Given the description of an element on the screen output the (x, y) to click on. 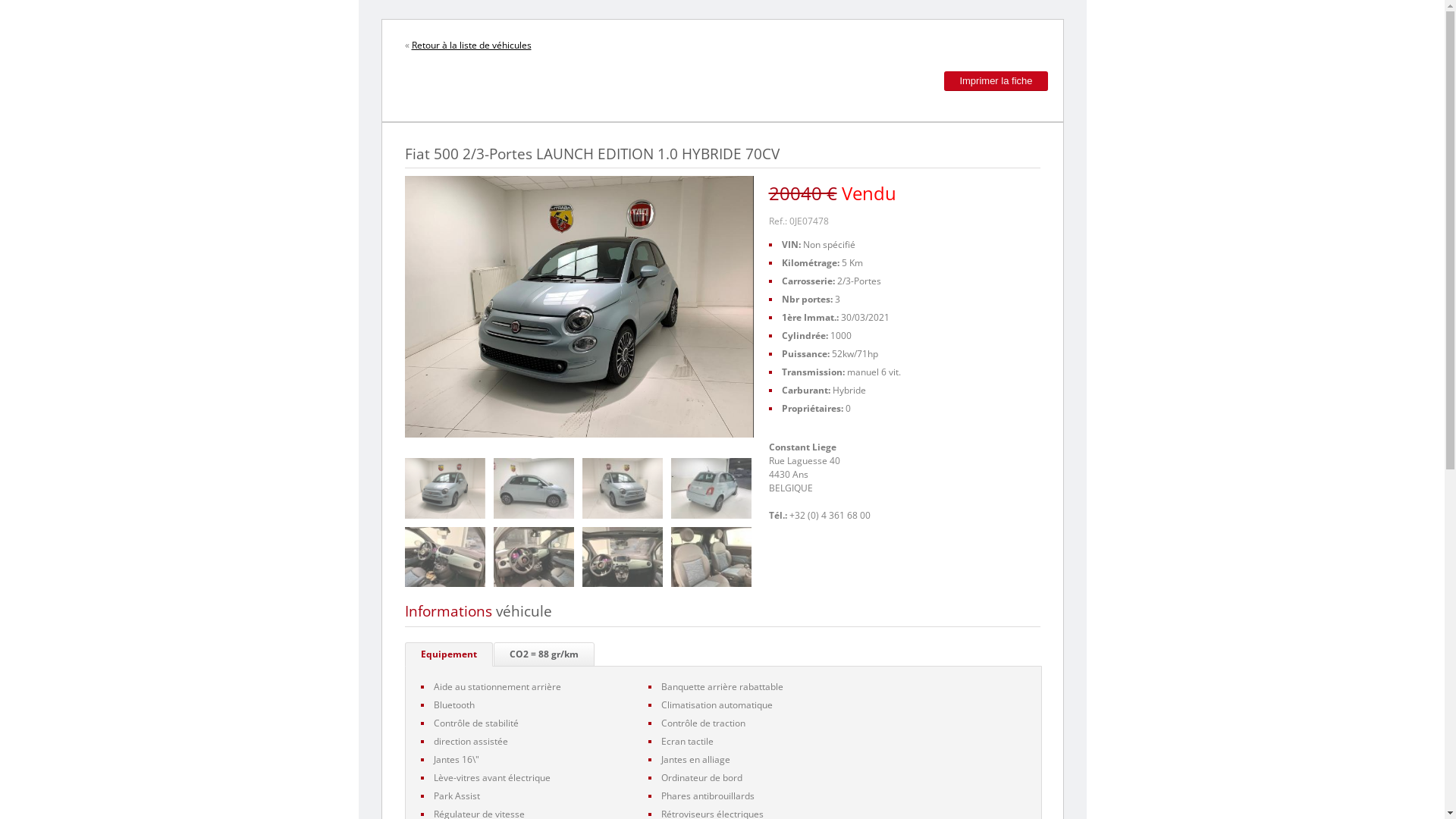
Imprimer la fiche Element type: text (995, 81)
Fiat 500 2/3-Portes LAUNCH EDITION 1.0 HYBRIDE 70CV Element type: hover (444, 488)
Fiat 500 2/3-Portes LAUNCH EDITION 1.0 HYBRIDE 70CV Element type: hover (532, 488)
CO2 = 88 gr/km Element type: text (542, 654)
Fiat 500 2/3-Portes LAUNCH EDITION 1.0 HYBRIDE 70CV Element type: hover (710, 557)
Equipement Element type: text (448, 654)
Fiat 500 2/3-Portes LAUNCH EDITION 1.0 HYBRIDE 70CV Element type: hover (532, 557)
Fiat 500 2/3-Portes LAUNCH EDITION 1.0 HYBRIDE 70CV Element type: hover (622, 488)
Fiat 500 2/3-Portes LAUNCH EDITION 1.0 HYBRIDE 70CV Element type: hover (444, 557)
Fiat 500 2/3-Portes LAUNCH EDITION 1.0 HYBRIDE 70CV Element type: hover (622, 557)
Fiat 500 2/3-Portes LAUNCH EDITION 1.0 HYBRIDE 70CV Element type: hover (710, 488)
